Given the description of an element on the screen output the (x, y) to click on. 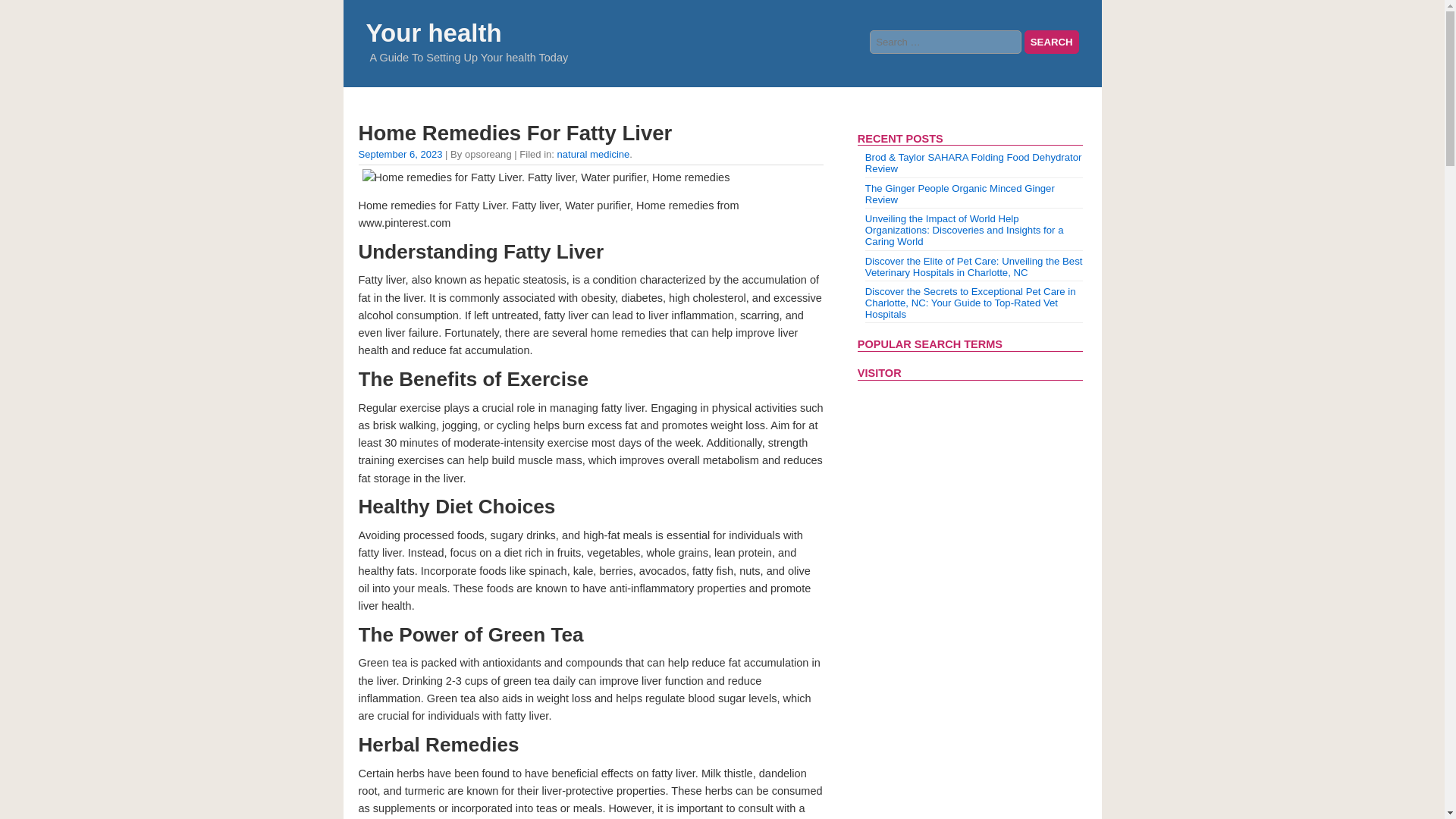
Search (1051, 42)
natural medicine (593, 153)
Your health (432, 32)
September 6, 2023 (400, 153)
Home Remedies For Fatty Liver 2 (545, 177)
Search (1051, 42)
Search (1051, 42)
